Given the description of an element on the screen output the (x, y) to click on. 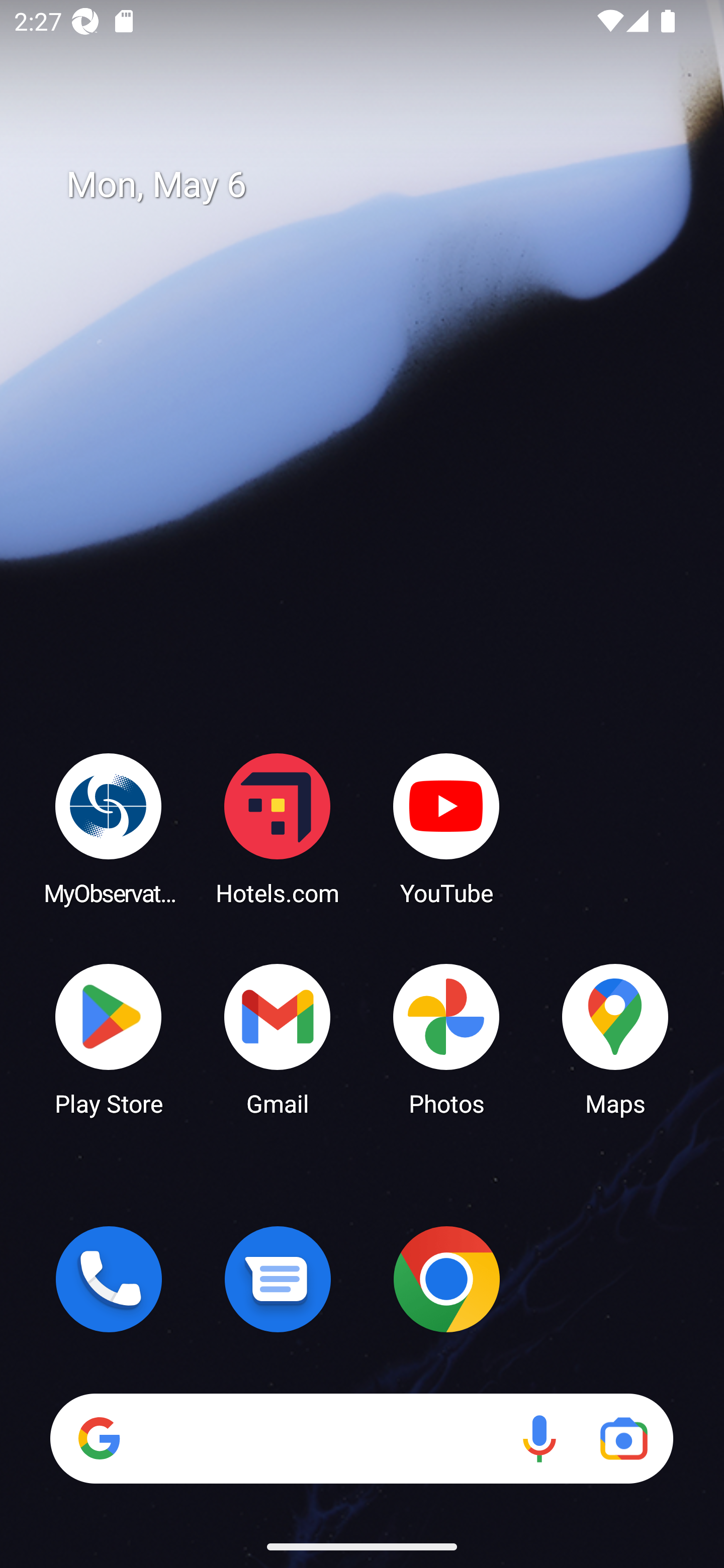
Mon, May 6 (375, 184)
MyObservatory (108, 828)
Hotels.com (277, 828)
YouTube (445, 828)
Play Store (108, 1038)
Gmail (277, 1038)
Photos (445, 1038)
Maps (615, 1038)
Phone (108, 1279)
Messages (277, 1279)
Chrome (446, 1279)
Search Voice search Google Lens (361, 1438)
Voice search (539, 1438)
Google Lens (623, 1438)
